Given the description of an element on the screen output the (x, y) to click on. 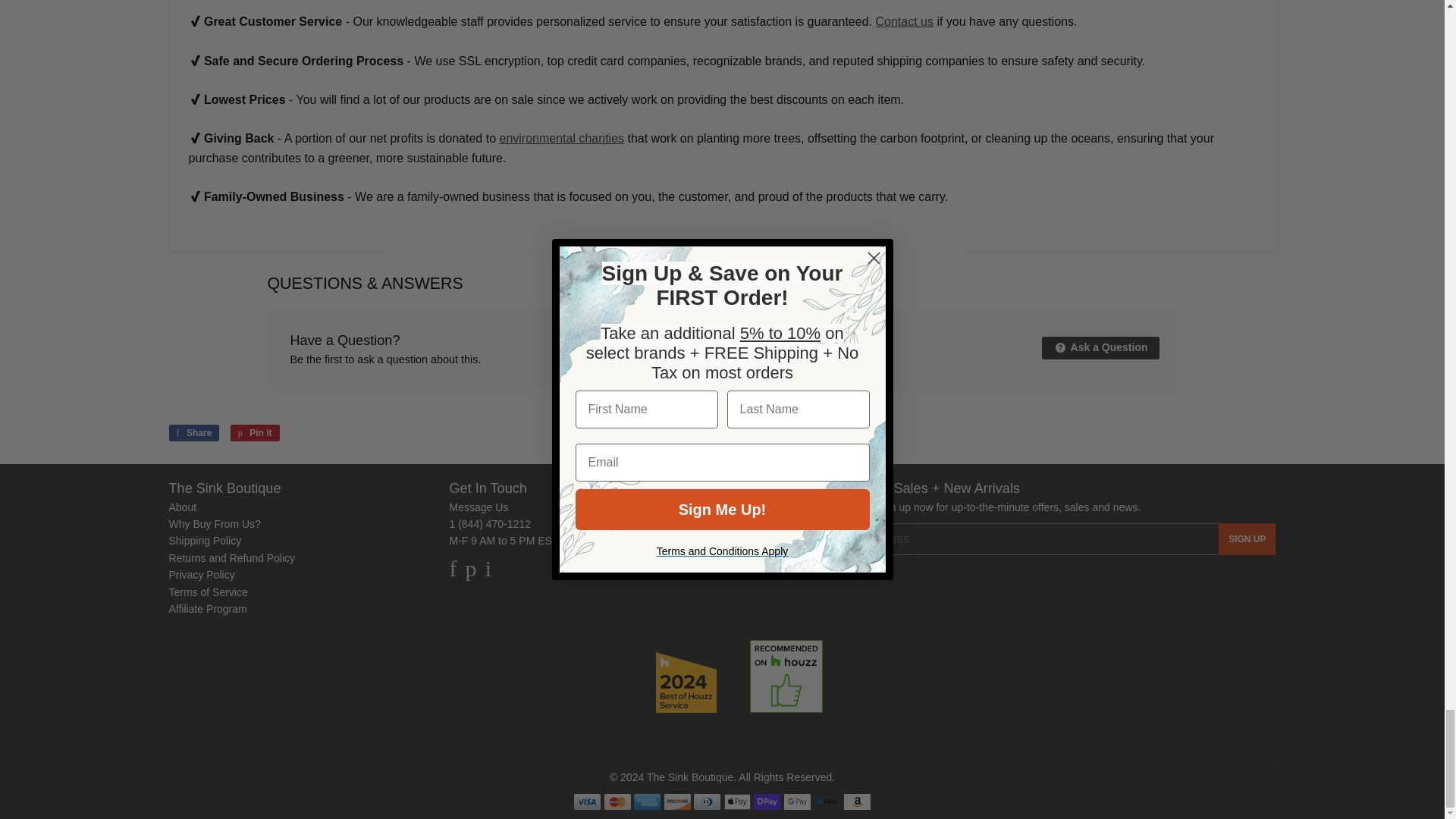
Sign Up (1246, 539)
